Given the description of an element on the screen output the (x, y) to click on. 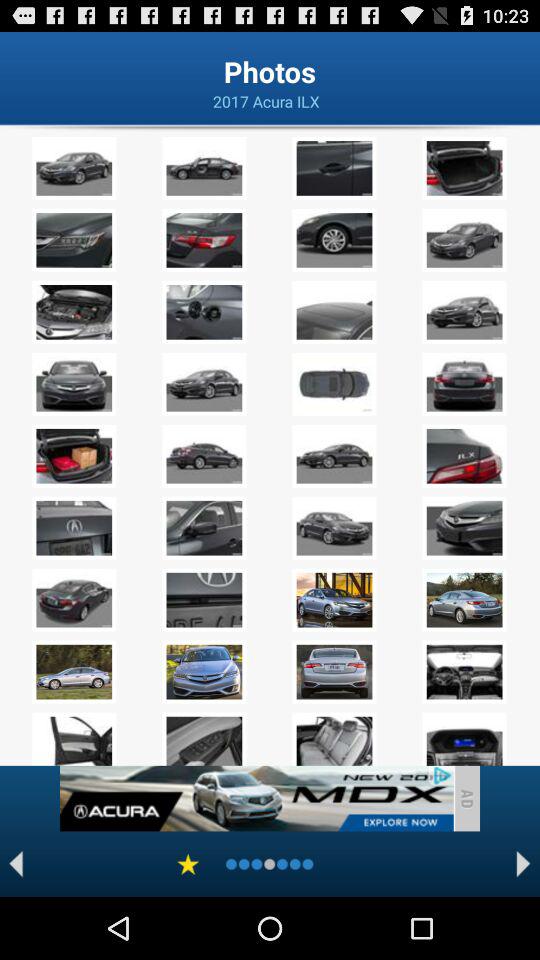
view an advertisement (256, 798)
